Given the description of an element on the screen output the (x, y) to click on. 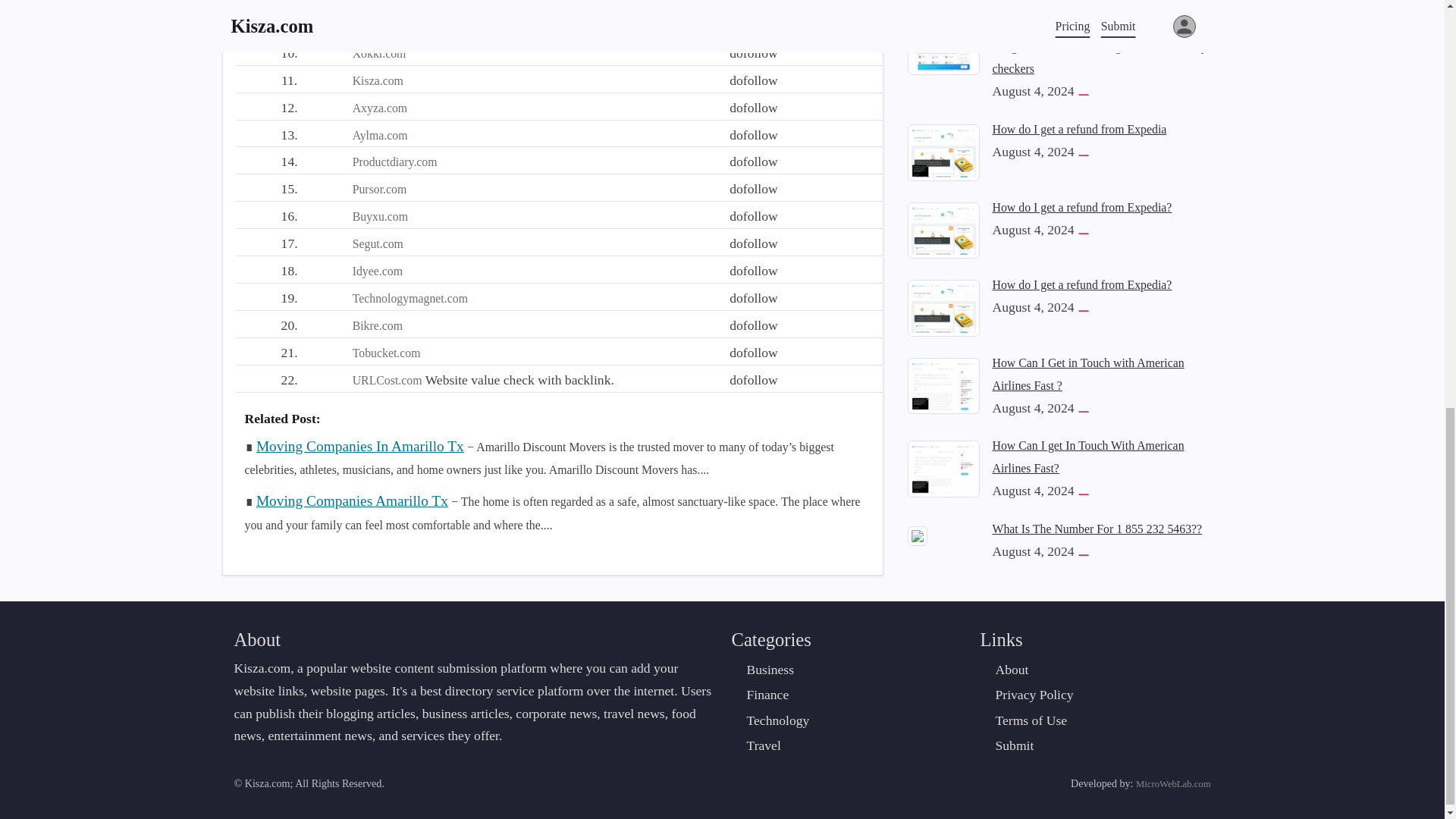
Xamly.com (379, 25)
Pursor.com (379, 188)
Axyza.com (379, 107)
Productdiary.com (395, 161)
Aylma.com (379, 134)
Buyxu.com (379, 215)
Kisza.com (377, 80)
Ghurry.com (381, 2)
Xokki.com (379, 52)
How Can I get In Touch With American Airlines Fast? (1087, 12)
Moving Companies Amarillo Tx (352, 500)
Segut.com (377, 243)
Technologymagnet.com (409, 297)
How Can I get In Touch With American Airlines Fast? (943, 17)
Idyee.com (377, 270)
